Given the description of an element on the screen output the (x, y) to click on. 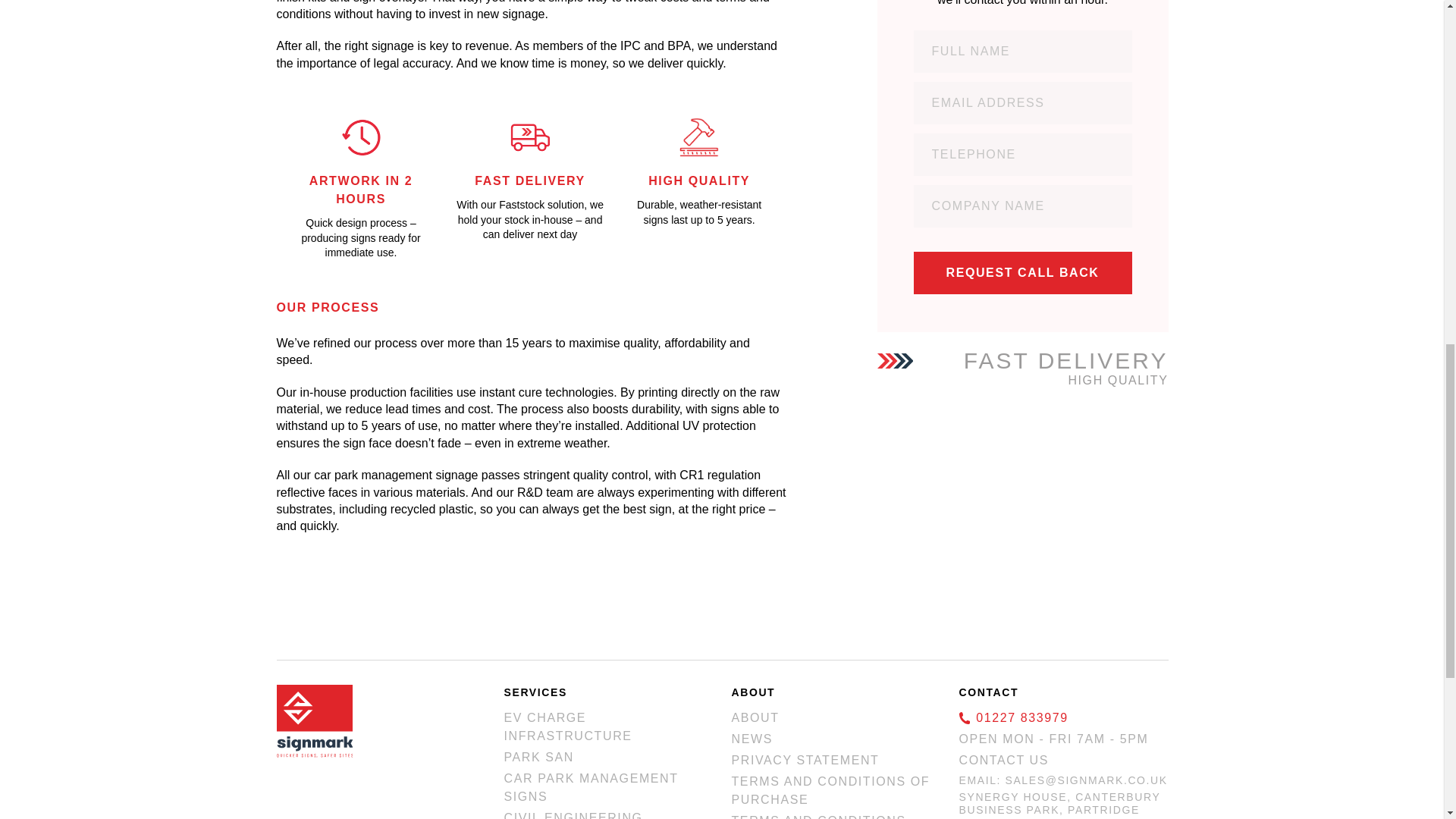
TERMS AND CONDITIONS (817, 816)
TERMS AND CONDITIONS OF PURCHASE (830, 789)
CAR PARK MANAGEMENT SIGNS (590, 787)
Request call back (1021, 272)
EV CHARGE INFRASTRUCTURE (567, 726)
Request call back (1021, 272)
PARK SAN (538, 757)
PRIVACY STATEMENT (804, 759)
ABOUT (754, 717)
CIVIL ENGINEERING (572, 815)
NEWS (750, 738)
